Given the description of an element on the screen output the (x, y) to click on. 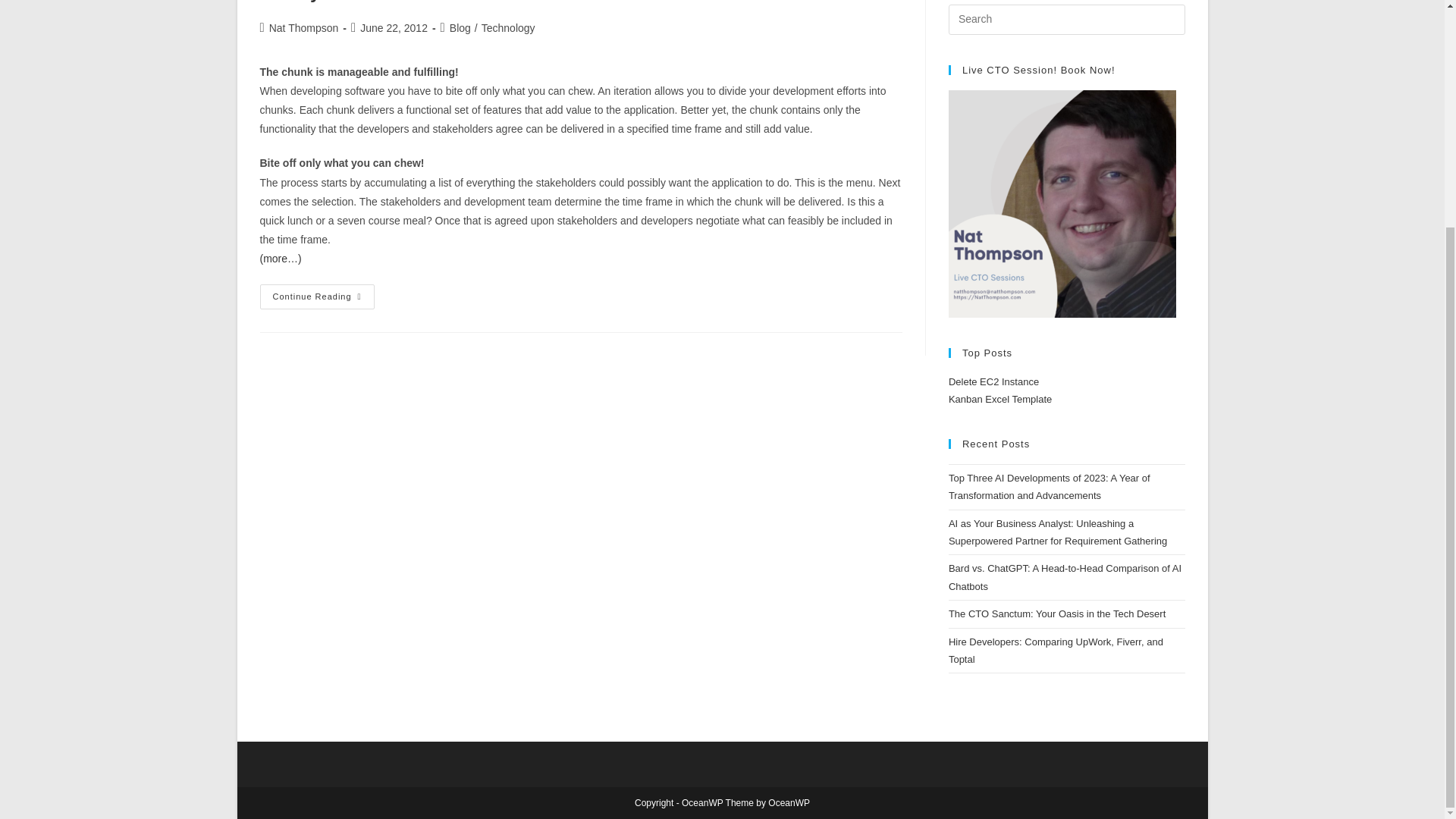
Blog (459, 28)
Delete EC2 Instance (994, 381)
Technology (508, 28)
Kanban Excel Template (1000, 398)
Posts by Nat Thompson (304, 28)
Nat Thompson (304, 28)
Continue Reading (316, 296)
